Given the description of an element on the screen output the (x, y) to click on. 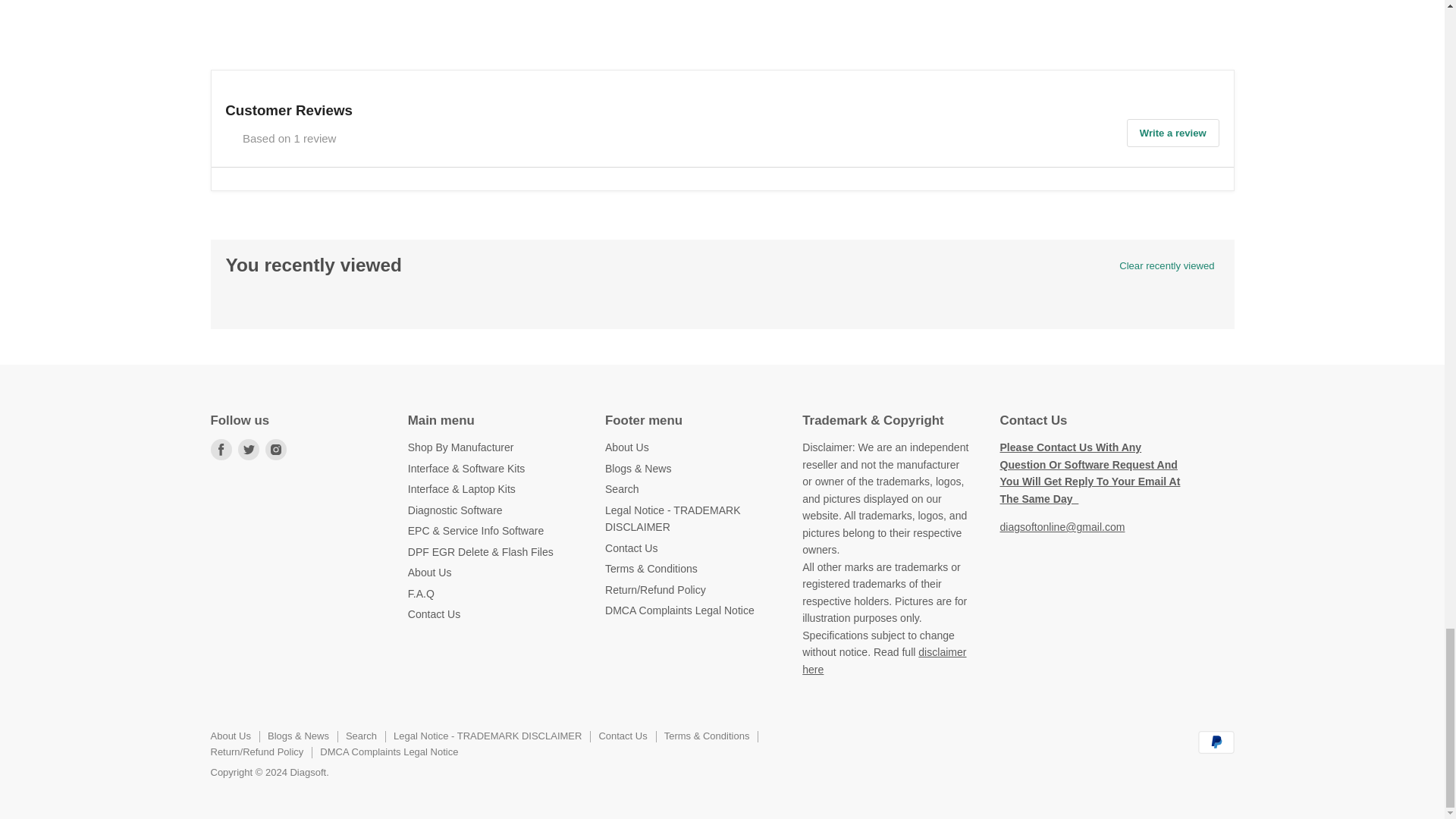
Facebook (221, 449)
Contact Us (1061, 526)
Twitter (248, 449)
PayPal (1216, 742)
Instagram (275, 449)
Contact Us (1088, 473)
